Given the description of an element on the screen output the (x, y) to click on. 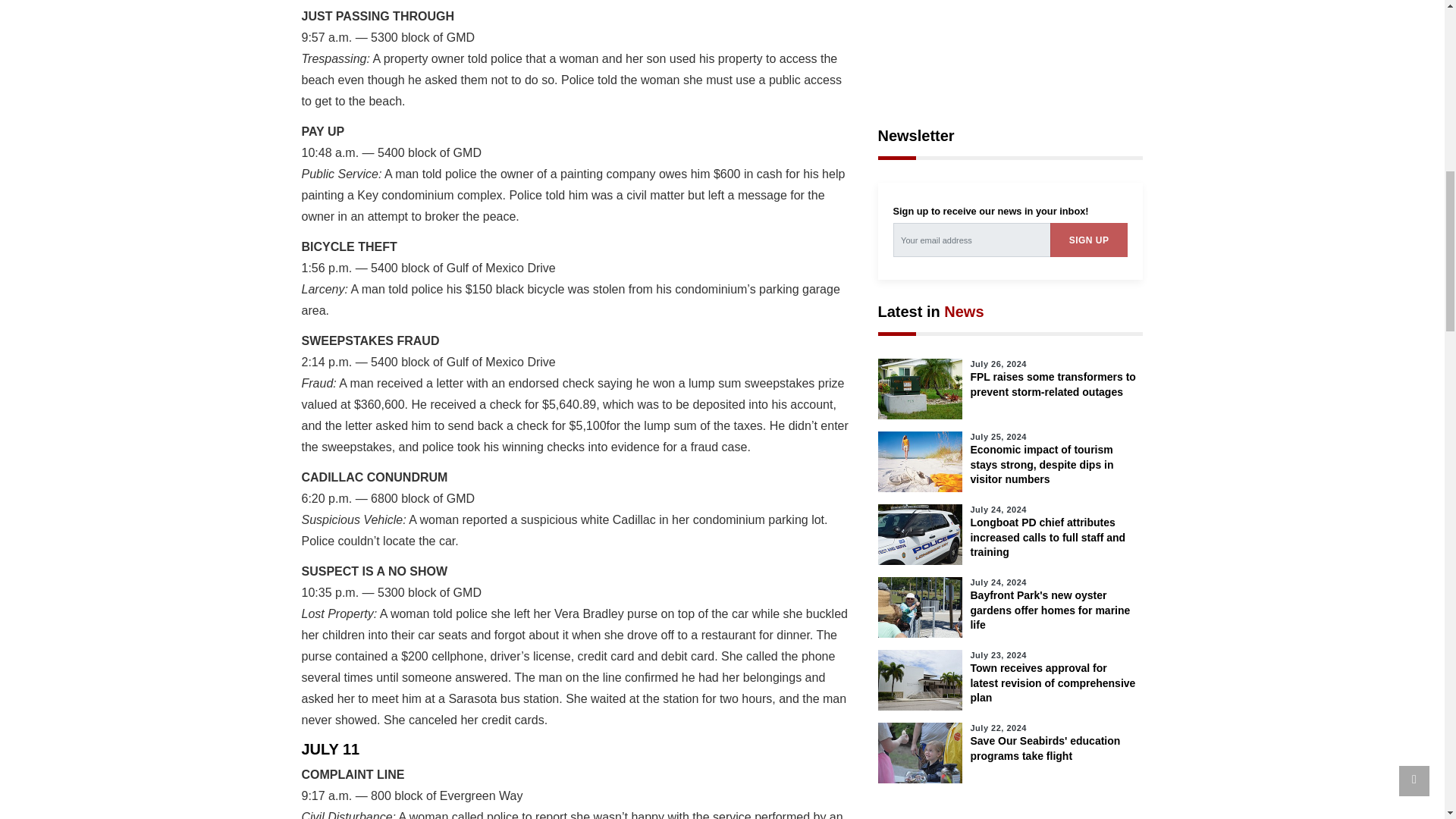
3rd party ad content (1010, 46)
